Given the description of an element on the screen output the (x, y) to click on. 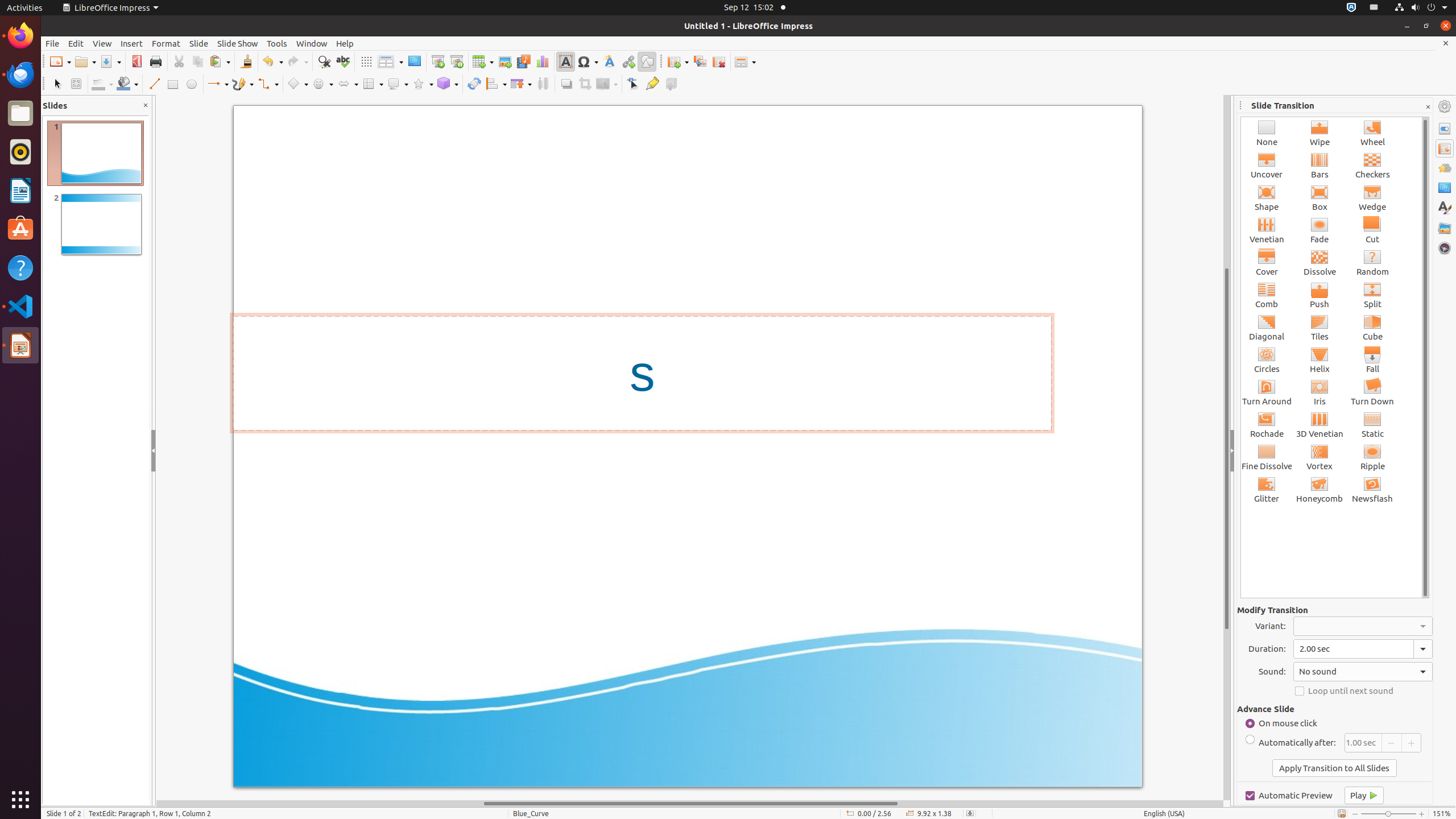
Horizontal scroll bar Element type: scroll-bar (689, 803)
Chart Element type: push-button (541, 61)
Shape Element type: list-item (1266, 197)
Uncover Element type: list-item (1266, 164)
Draw Functions Element type: toggle-button (646, 61)
